Given the description of an element on the screen output the (x, y) to click on. 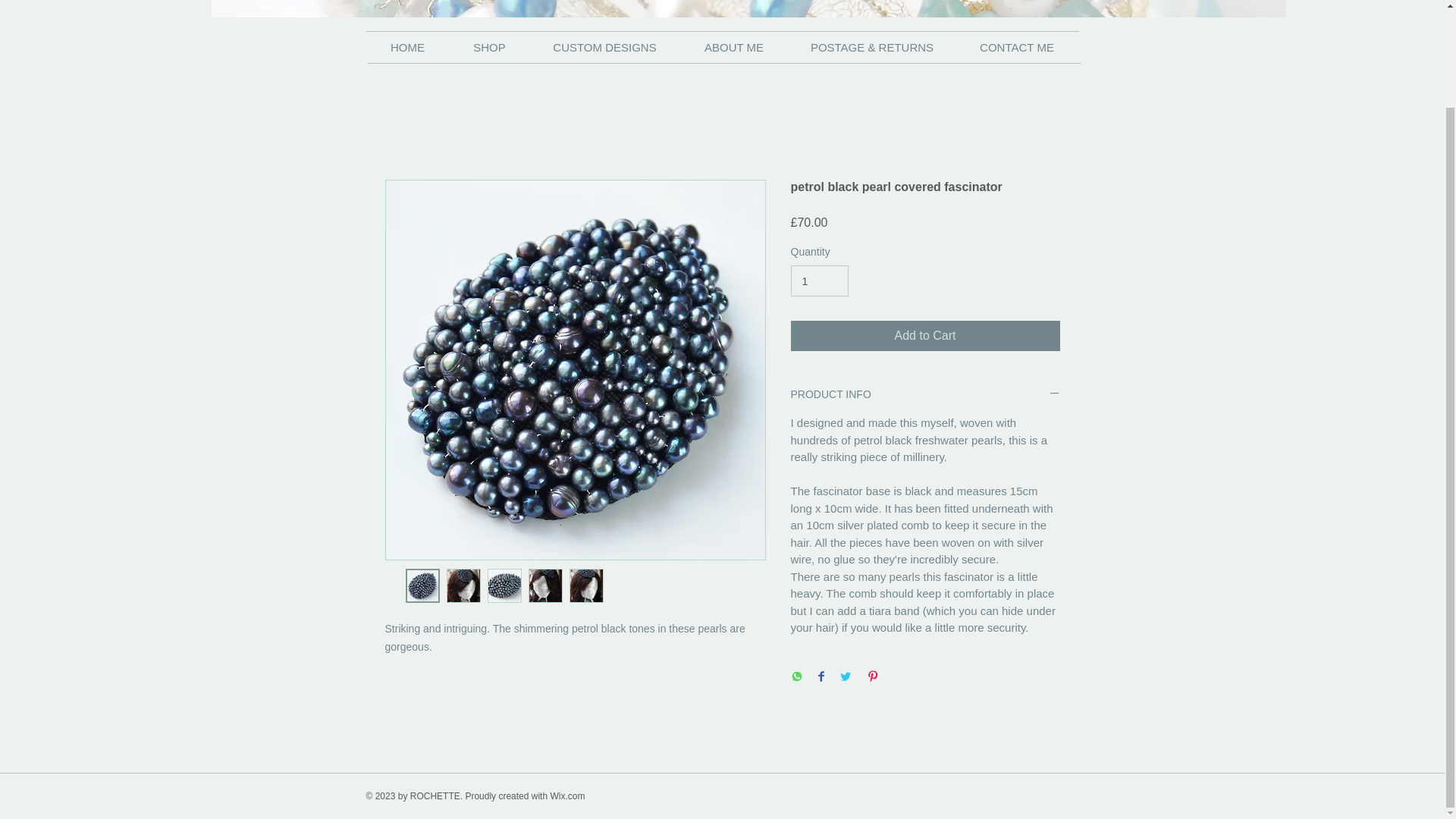
HOME (406, 47)
CUSTOM DESIGNS (604, 47)
Add to Cart (924, 336)
PRODUCT INFO (924, 394)
1 (818, 280)
ABOUT ME (733, 47)
Wix.com (567, 796)
CONTACT ME (1016, 47)
jj7 lighter.jpg (748, 8)
